Given the description of an element on the screen output the (x, y) to click on. 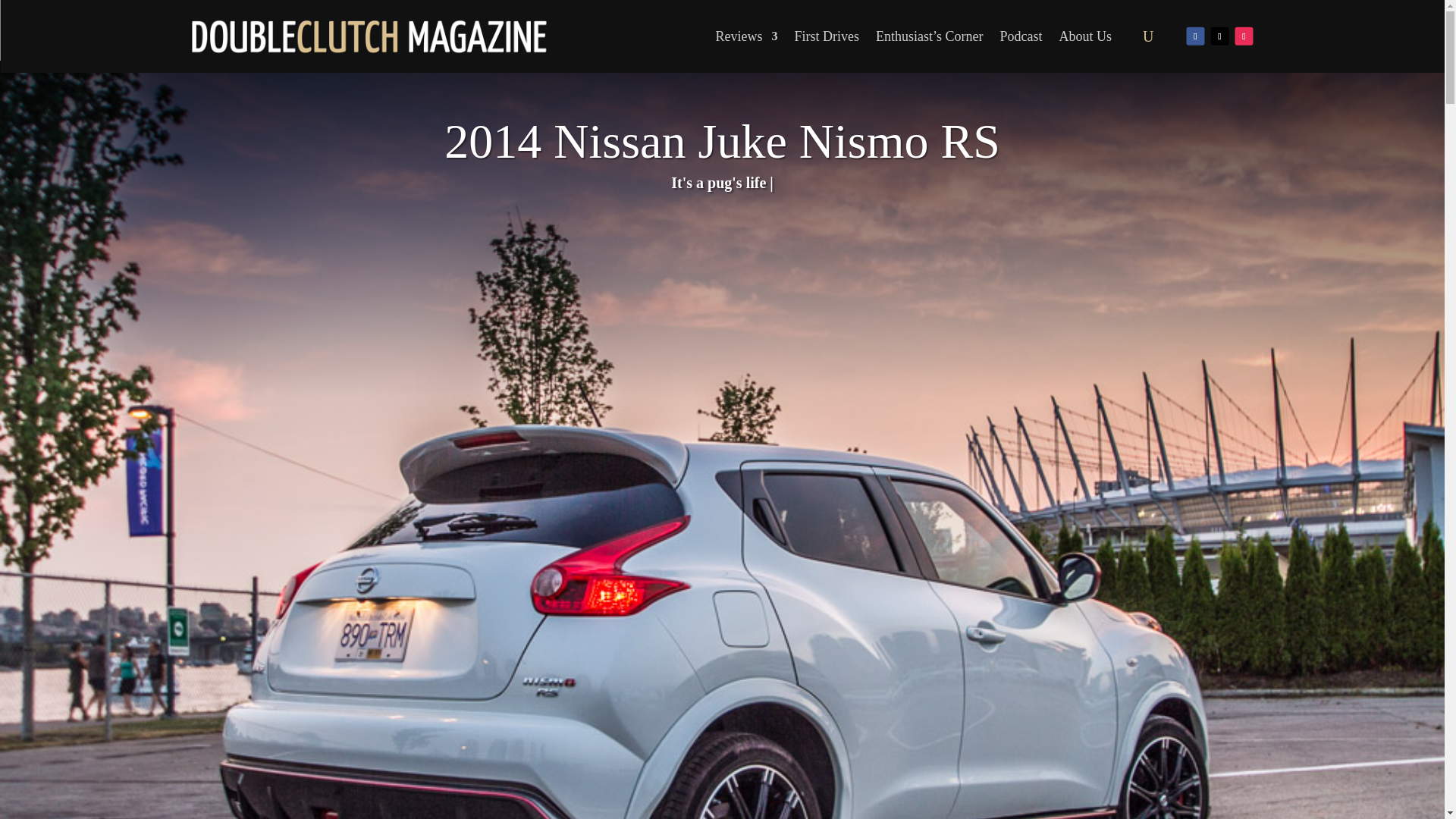
Follow on Facebook (1195, 35)
Follow on Instagram (1243, 35)
About Us (1085, 36)
First Drives (827, 36)
Follow on X (1218, 35)
Reviews (746, 36)
